Given the description of an element on the screen output the (x, y) to click on. 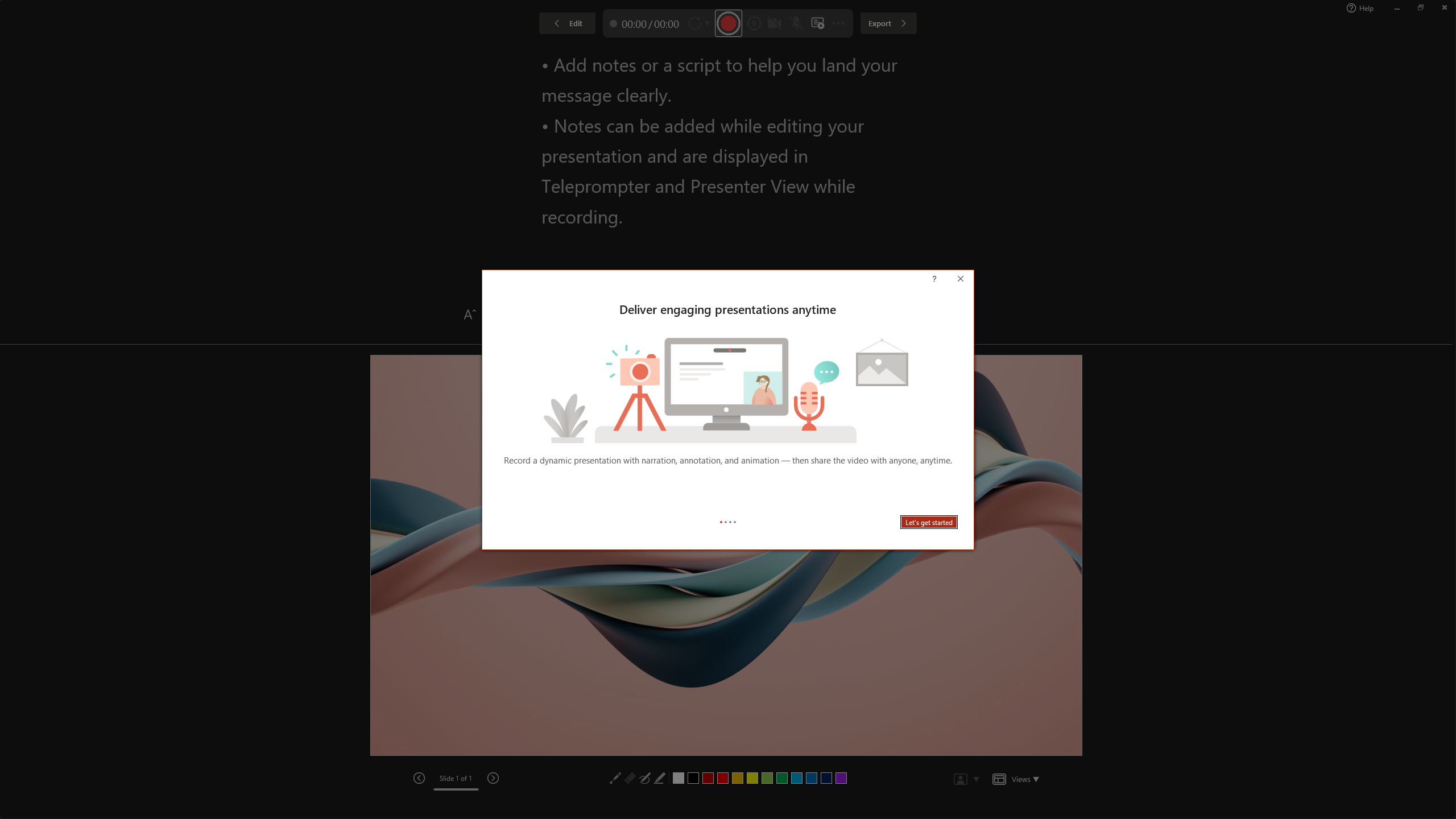
Basis (667, 56)
AutomationID: ThemeVariantsGallery (1195, 56)
Slide Size (1328, 58)
AfterglowVTI (32, 56)
Integral (244, 56)
Zoom 160% (1430, 790)
Ion Boardroom (350, 56)
Themes (1068, 67)
Berlin (720, 56)
Frame (984, 56)
